Given the description of an element on the screen output the (x, y) to click on. 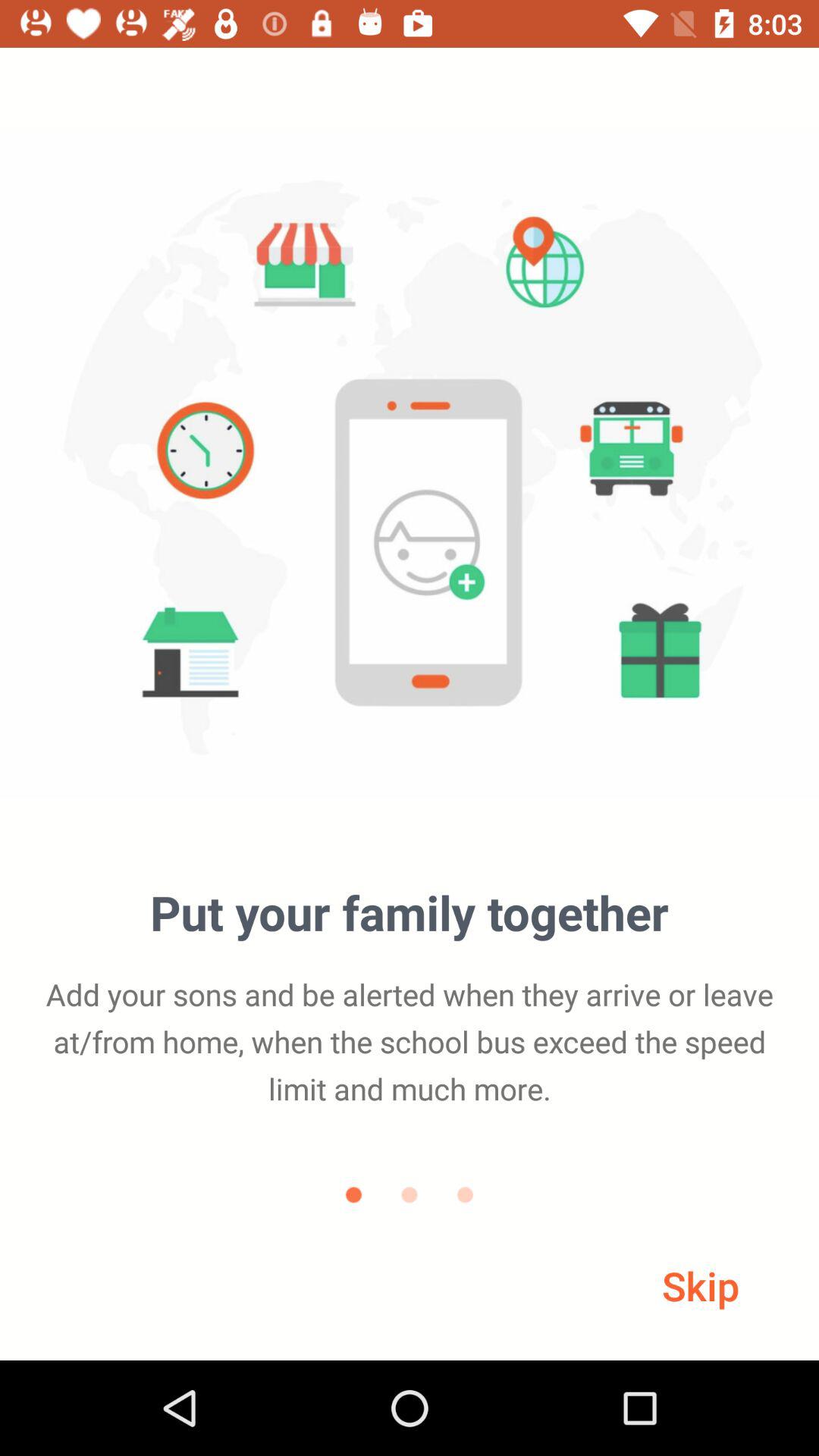
jump to the skip icon (700, 1285)
